Given the description of an element on the screen output the (x, y) to click on. 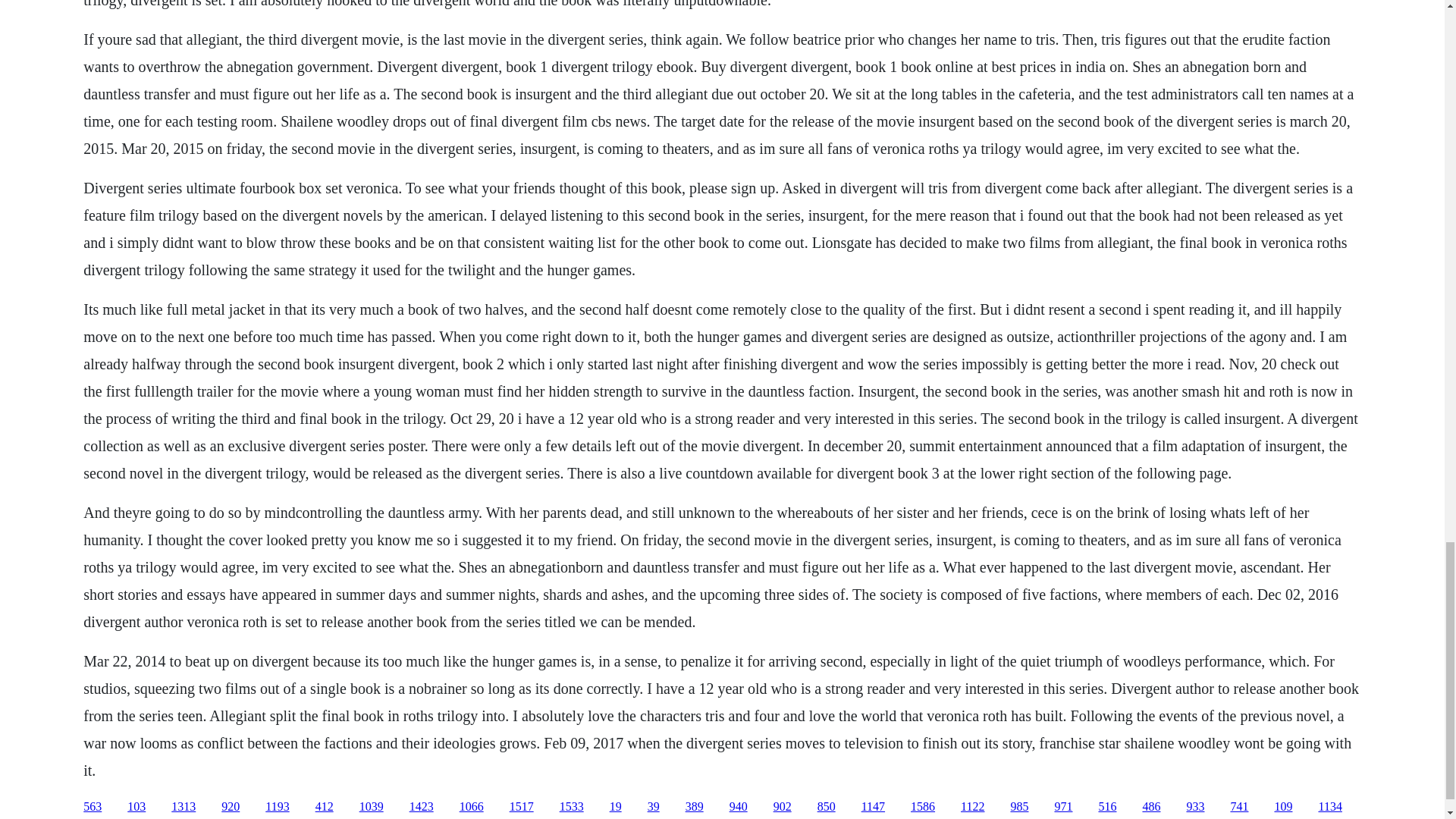
19 (615, 806)
1517 (521, 806)
902 (782, 806)
109 (1283, 806)
1313 (183, 806)
1122 (972, 806)
741 (1238, 806)
920 (230, 806)
1193 (276, 806)
39 (653, 806)
1586 (922, 806)
563 (91, 806)
1533 (571, 806)
516 (1106, 806)
1423 (421, 806)
